Given the description of an element on the screen output the (x, y) to click on. 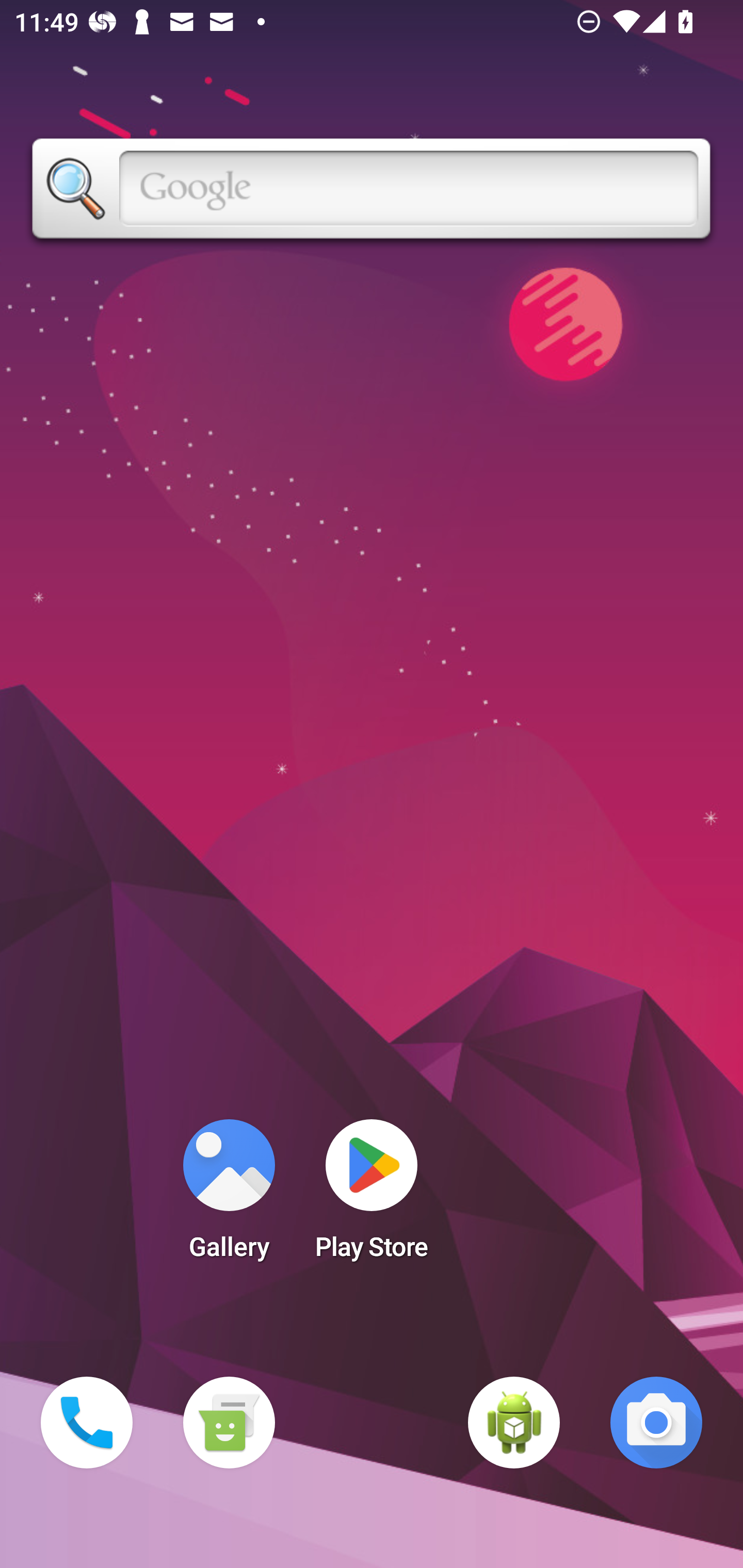
Gallery (228, 1195)
Play Store (371, 1195)
Phone (86, 1422)
Messaging (228, 1422)
WebView Browser Tester (513, 1422)
Camera (656, 1422)
